Given the description of an element on the screen output the (x, y) to click on. 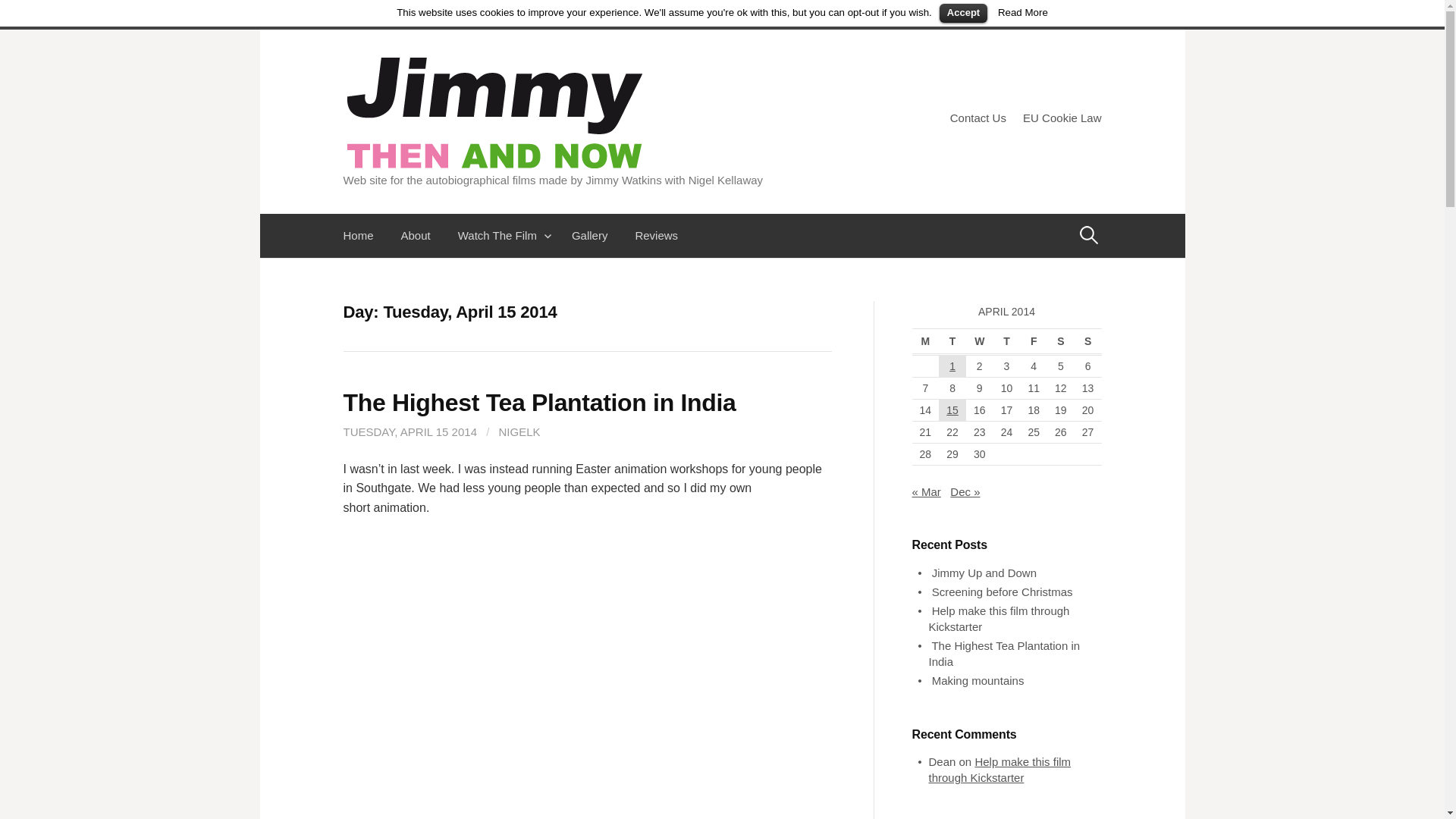
Saturday (1060, 340)
15 (952, 409)
Screening before Christmas (1002, 591)
Tuesday (952, 340)
EU Cookie Law (1061, 117)
NIGELK (519, 431)
Sunday (1088, 340)
Accept (963, 13)
Gallery (589, 235)
Wednesday (979, 340)
Thursday (1006, 340)
Home (364, 235)
Help make this film through Kickstarter (998, 618)
About (415, 235)
The Highest Tea Plantation in India (538, 402)
